Given the description of an element on the screen output the (x, y) to click on. 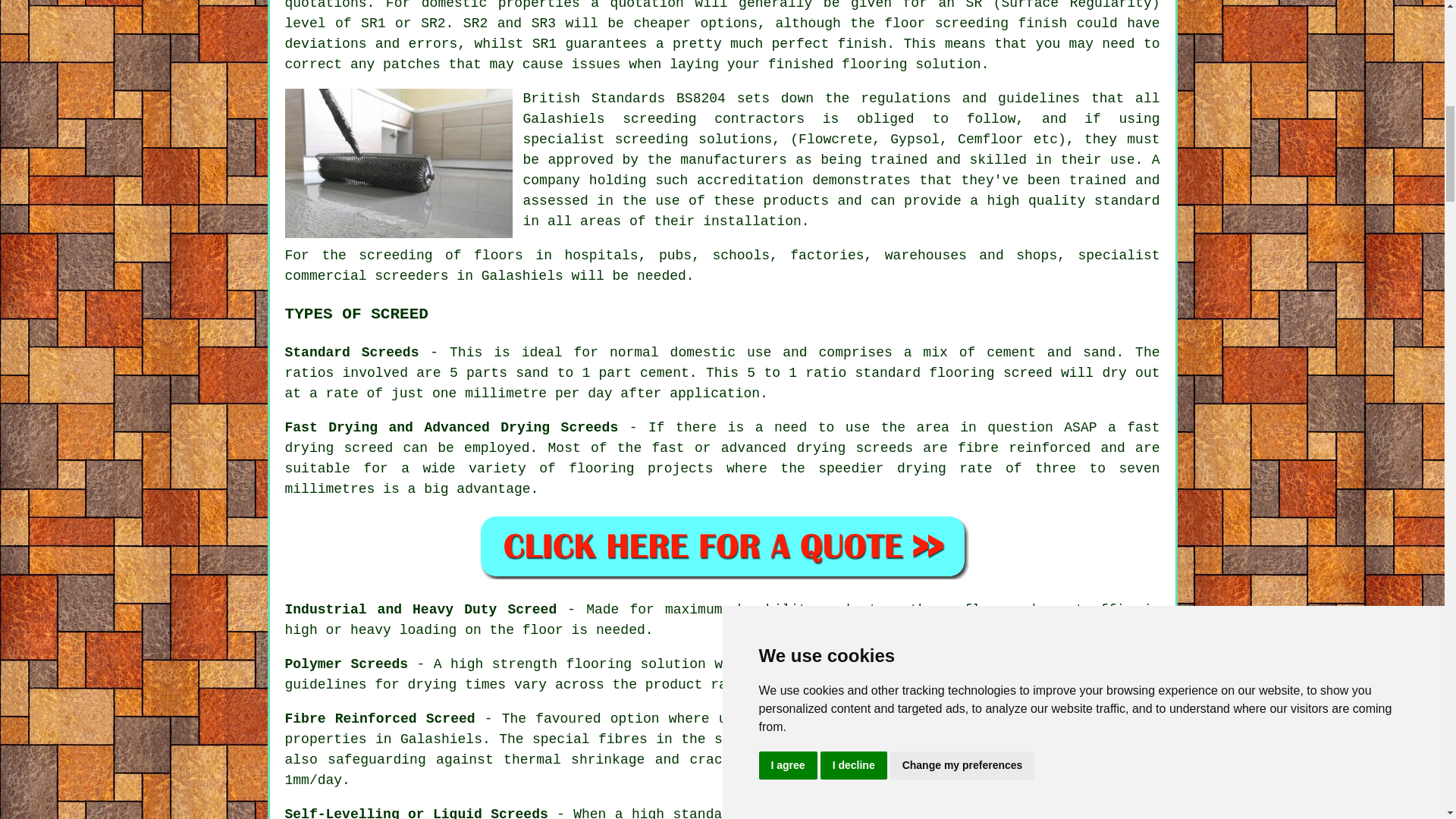
Screeding Quotes Galashiels Scotland (722, 545)
